Given the description of an element on the screen output the (x, y) to click on. 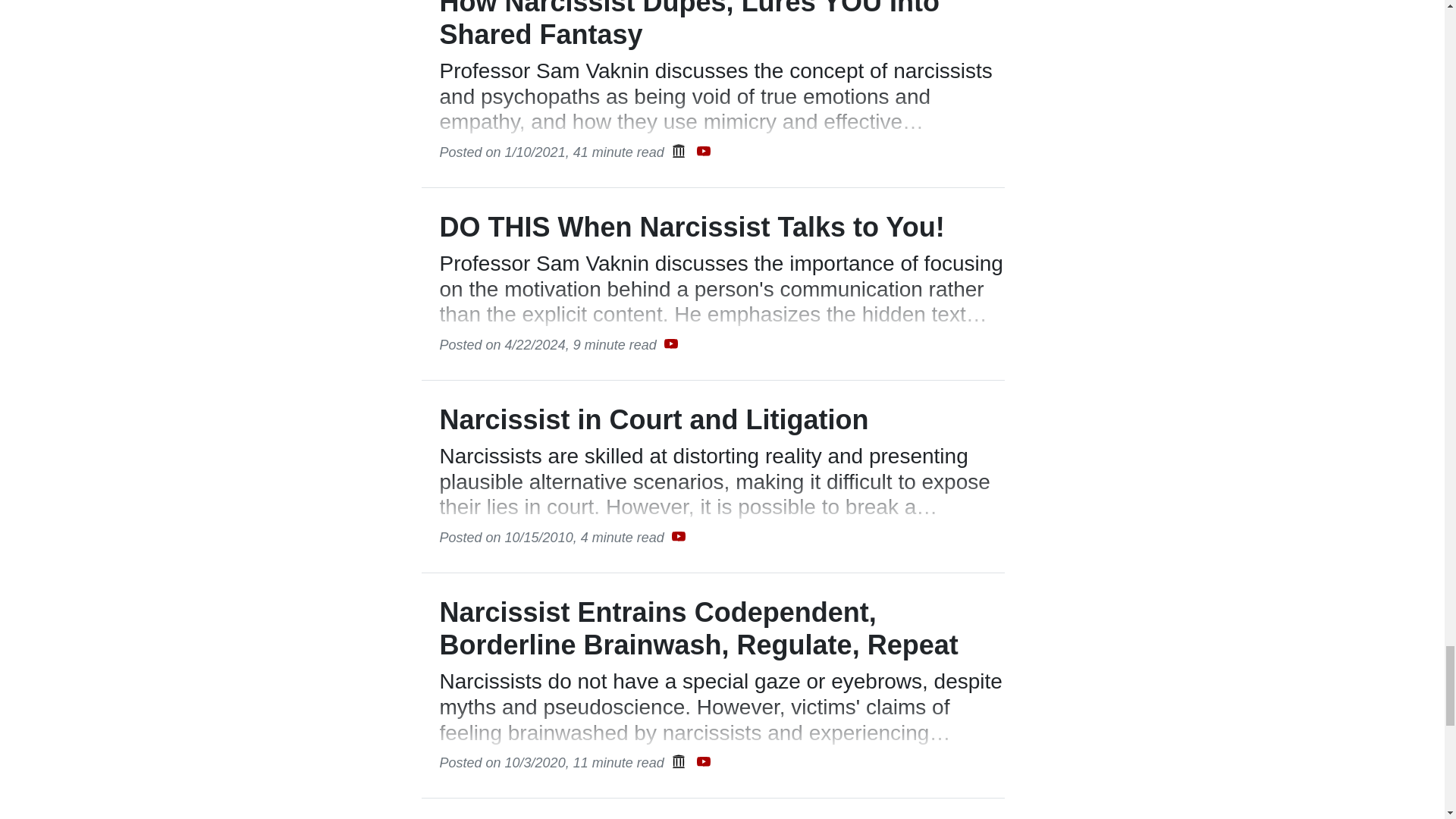
YouTube (678, 536)
Internet Archive (678, 762)
YouTube (670, 344)
Watch on Internet Archive (678, 757)
Internet Archive (678, 760)
YouTube (703, 760)
YouTube (703, 150)
YouTube (678, 534)
Watch on YouTube (678, 531)
